Given the description of an element on the screen output the (x, y) to click on. 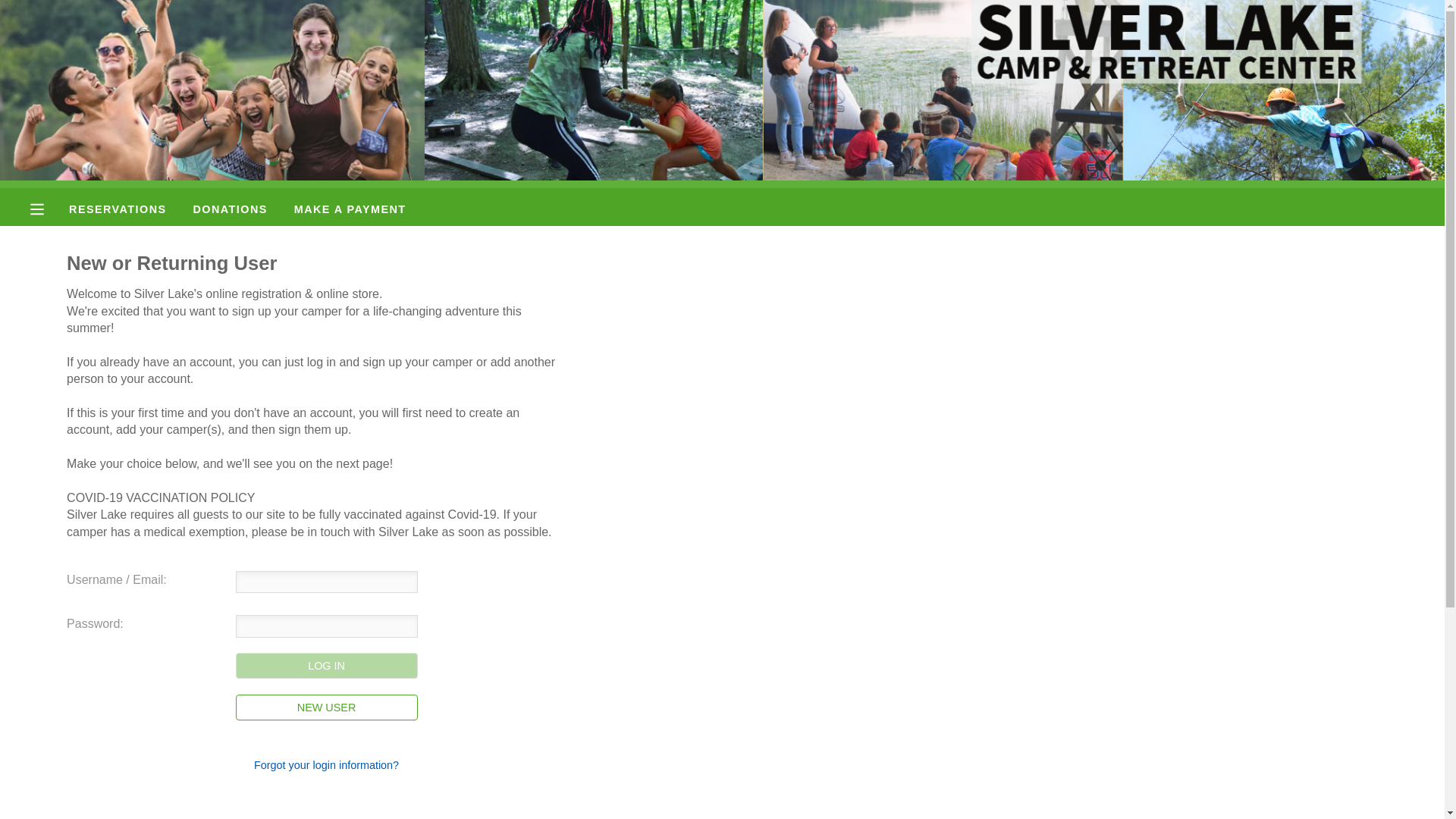
RESERVATIONS (116, 209)
DONATIONS (230, 209)
Log In (326, 665)
Menu (48, 208)
MAKE A PAYMENT (350, 209)
Forgot your login information? (325, 765)
Log In (326, 665)
NEW USER (326, 707)
